Given the description of an element on the screen output the (x, y) to click on. 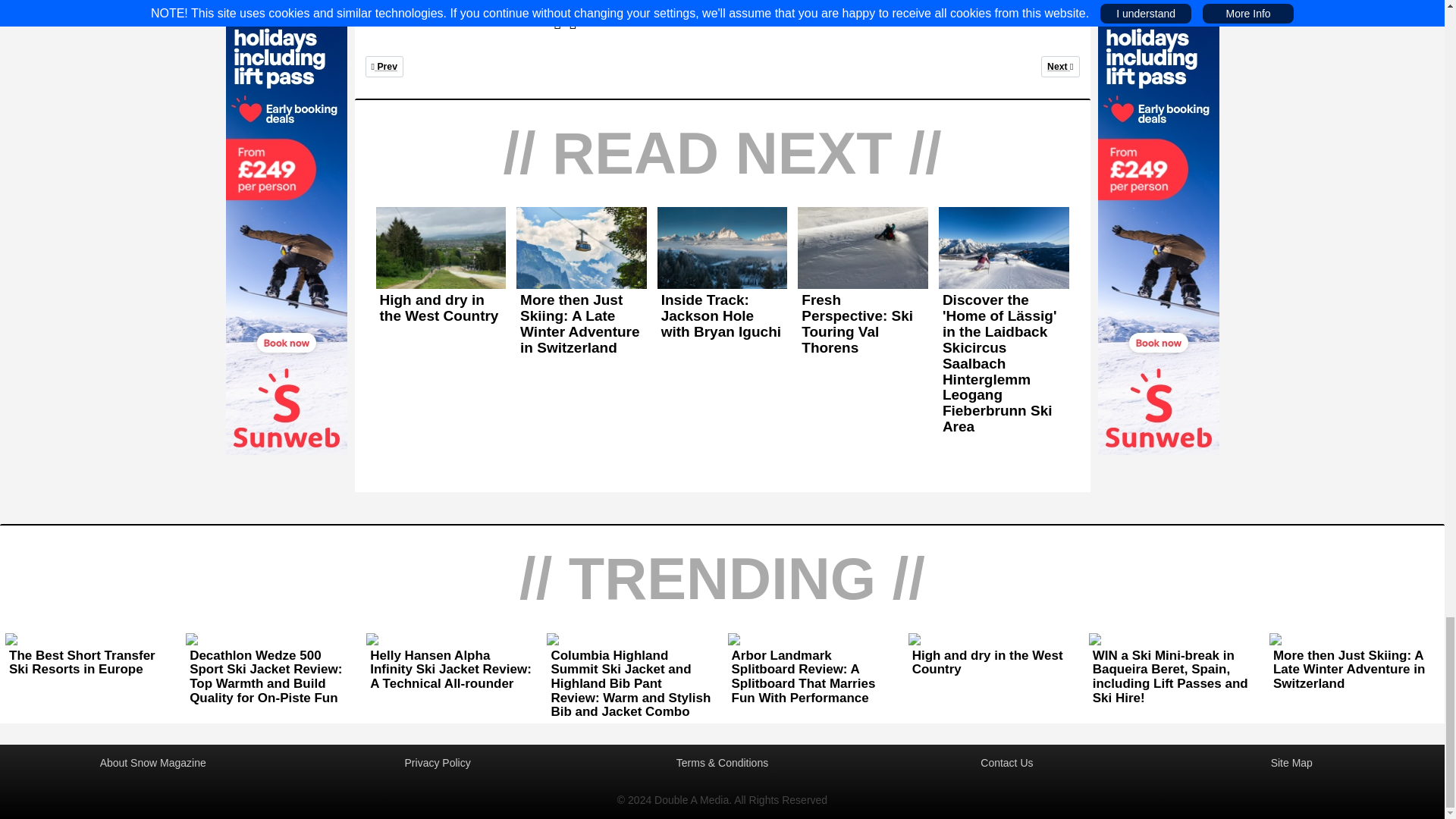
Inside Track: Jackson Hole with Bryan Iguchi (722, 316)
Fresh Perspective: Ski Touring Val Thorens (862, 324)
High and dry in the West Country (384, 66)
